Given the description of an element on the screen output the (x, y) to click on. 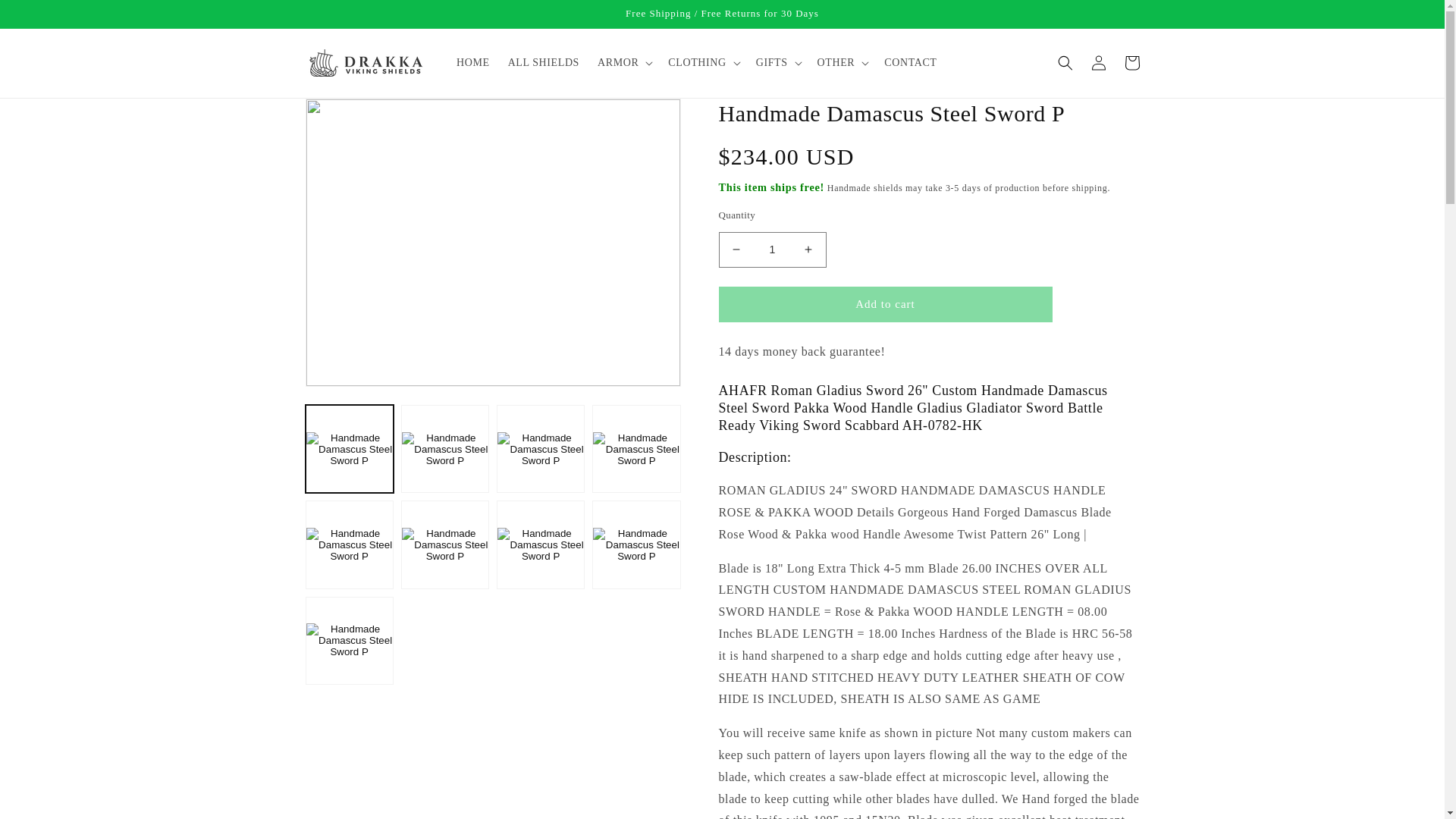
1 (773, 249)
Skip to content (45, 17)
HOME (472, 62)
ALL SHIELDS (543, 62)
